Given the description of an element on the screen output the (x, y) to click on. 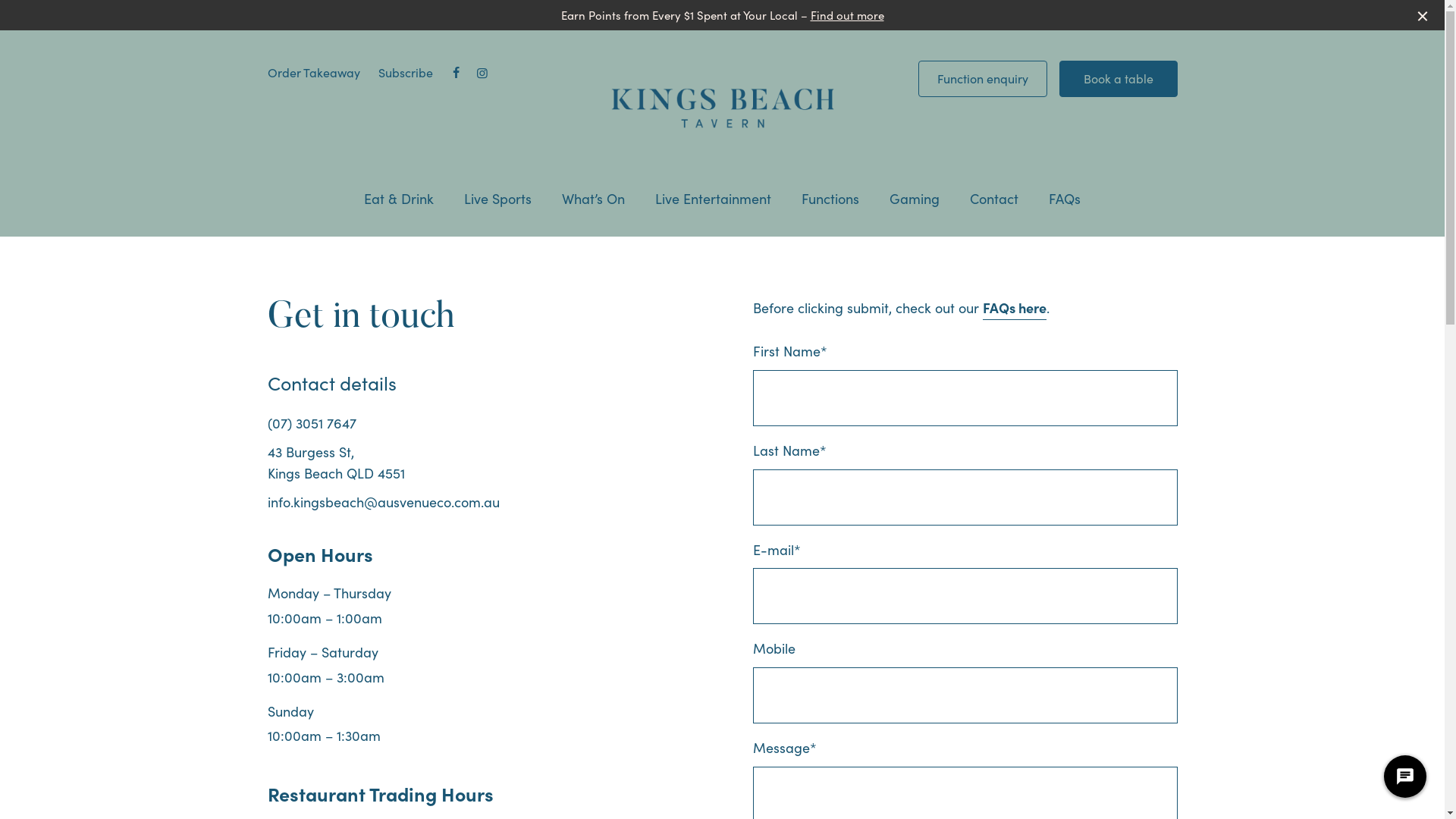
FAQs here Element type: text (1014, 307)
Function enquiry Element type: text (981, 78)
Find out more Element type: text (846, 14)
Contact Element type: text (993, 198)
Book a table Element type: text (1117, 78)
Functions Element type: text (830, 198)
Eat & Drink Element type: text (398, 198)
Live Sports Element type: text (497, 198)
info.kingsbeach@ausvenueco.com.au Element type: text (382, 501)
Gaming Element type: text (914, 198)
Live Entertainment Element type: text (713, 198)
Order Takeaway Element type: text (312, 71)
Subscribe Element type: text (404, 71)
43 Burgess St,
Kings Beach QLD 4551 Element type: text (335, 462)
FAQs Element type: text (1064, 198)
(07) 3051 7647 Element type: text (310, 423)
Genesys Messenger Launcher Element type: hover (1404, 779)
